Given the description of an element on the screen output the (x, y) to click on. 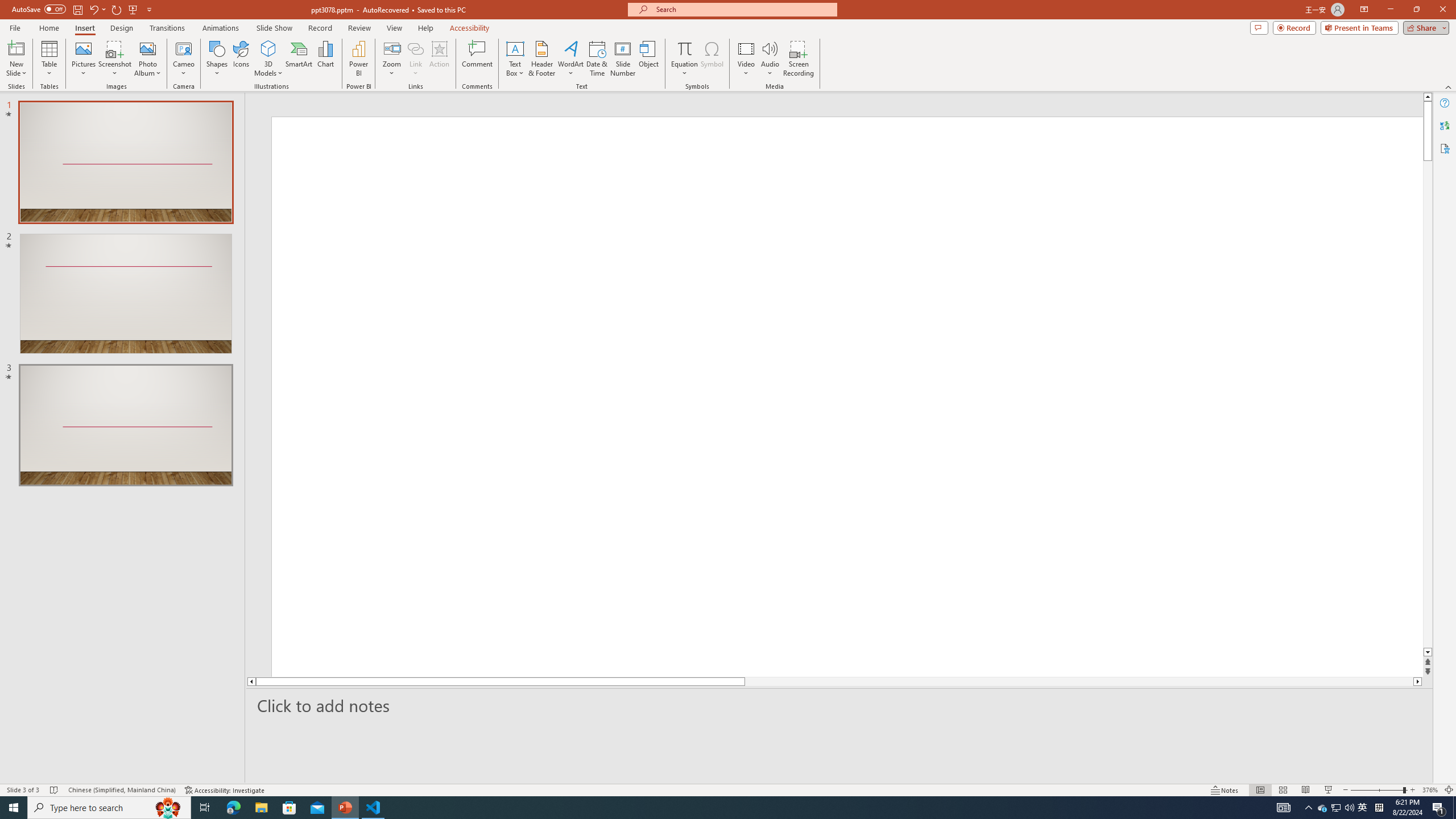
Icons (240, 58)
SmartArt... (298, 58)
Link (415, 58)
Action (439, 58)
